Given the description of an element on the screen output the (x, y) to click on. 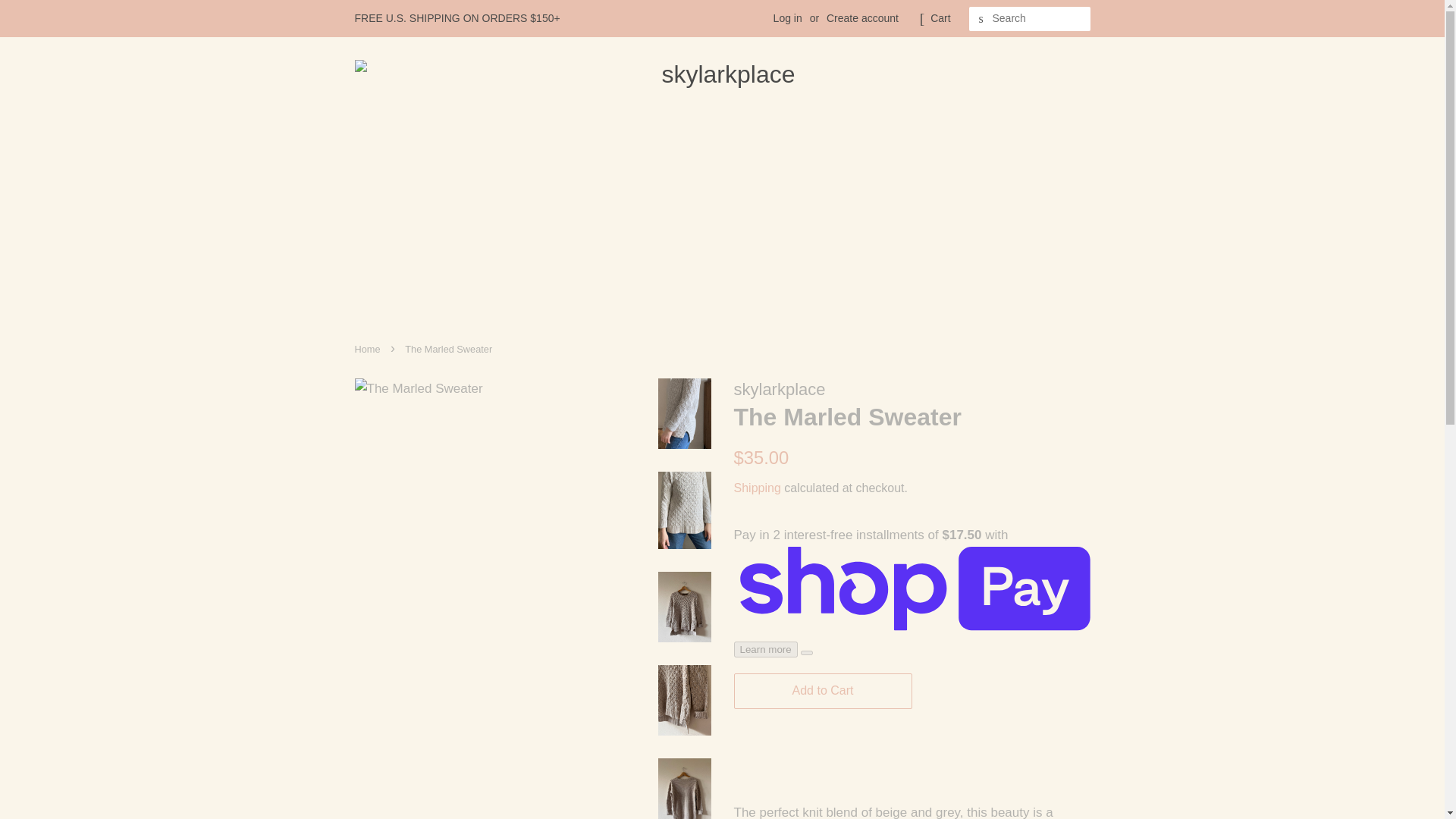
Create account (862, 18)
Cart (940, 18)
Search (980, 18)
Add to Cart (822, 691)
Home (369, 348)
Back to the frontpage (369, 348)
Shipping (756, 487)
Log in (787, 18)
